Given the description of an element on the screen output the (x, y) to click on. 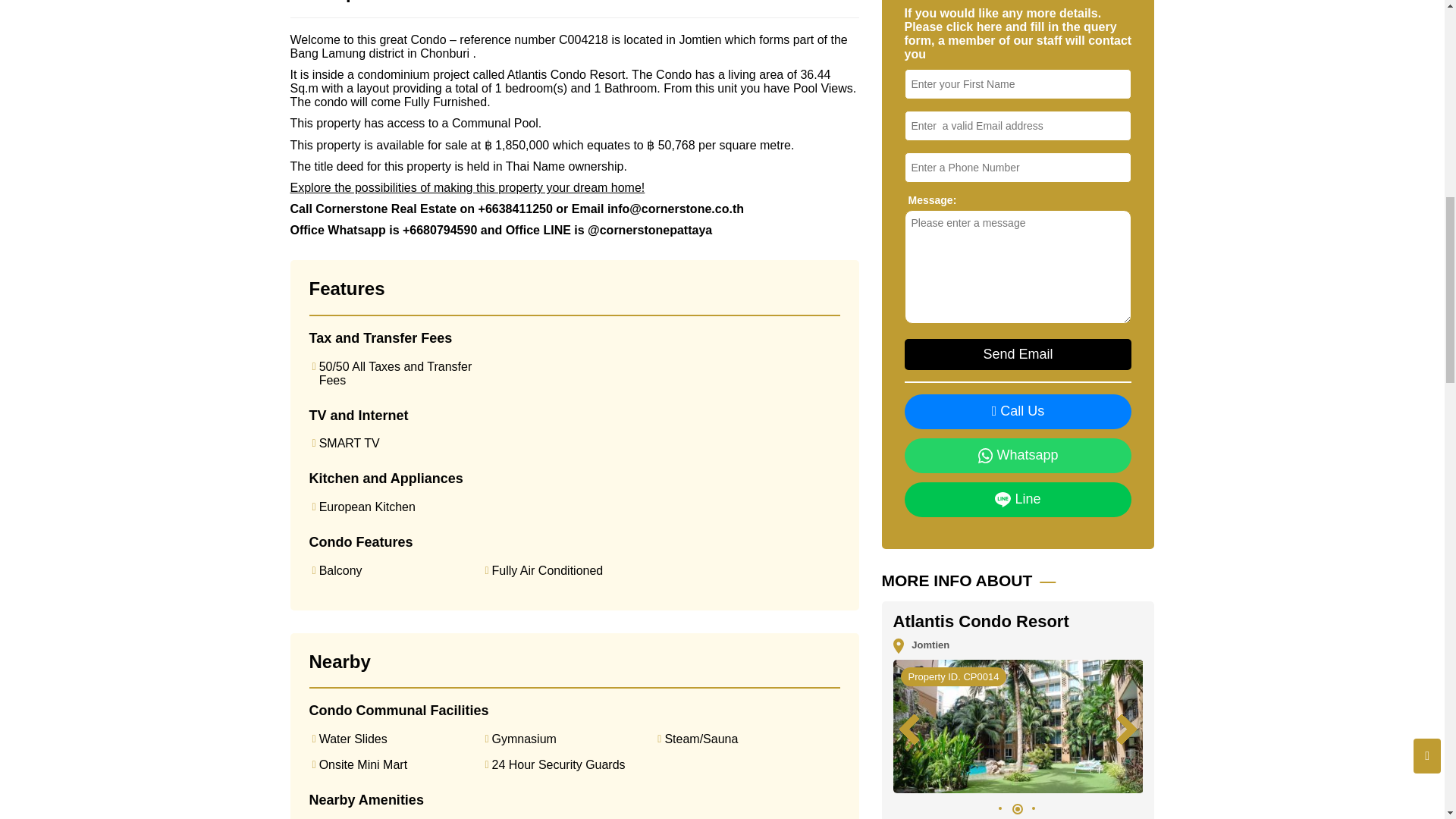
Send email (1017, 354)
